Given the description of an element on the screen output the (x, y) to click on. 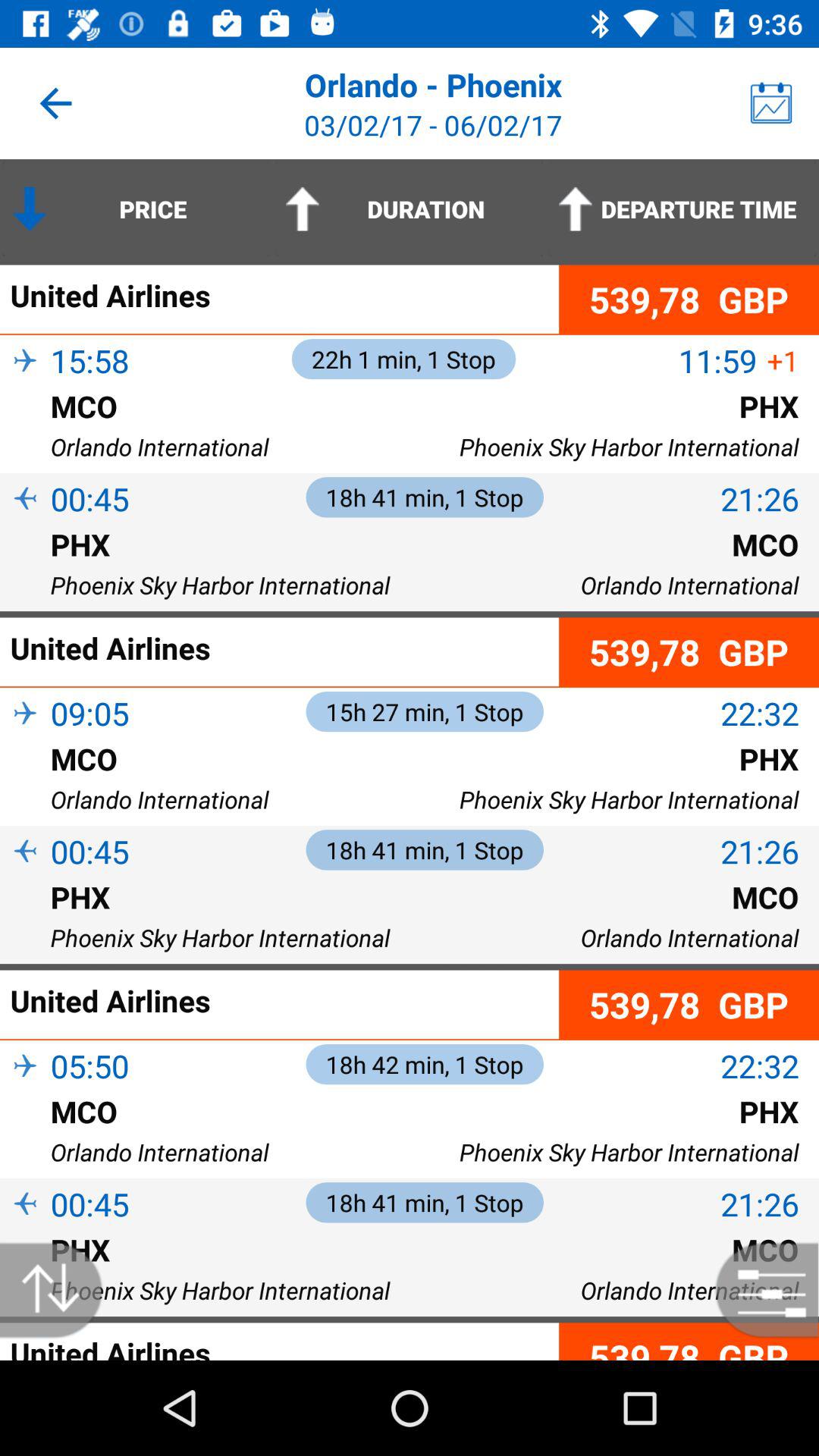
press the icon above the price item (55, 103)
